Given the description of an element on the screen output the (x, y) to click on. 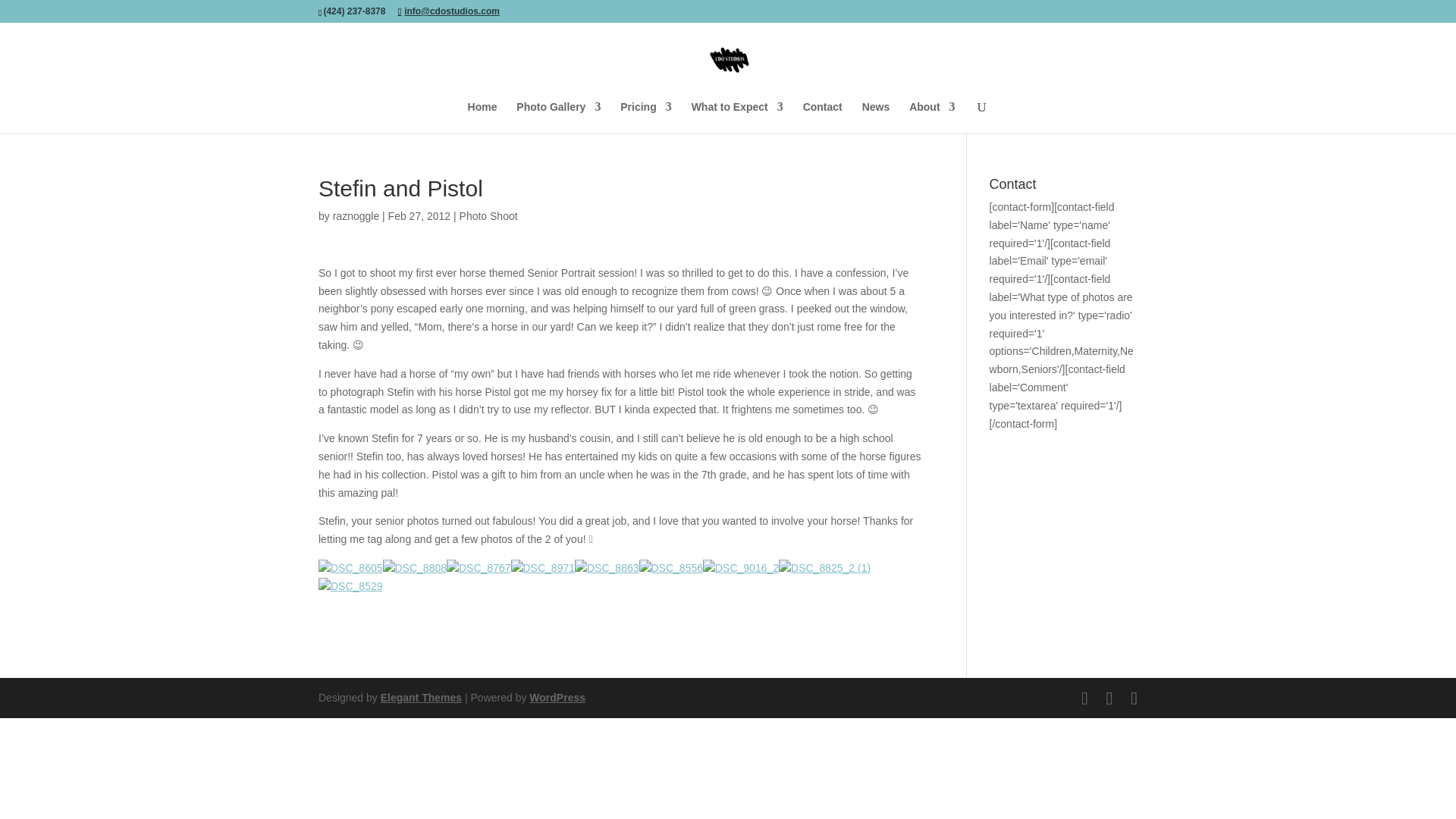
About (931, 117)
Photo Shoot (489, 215)
What to Expect (737, 117)
Elegant Themes (420, 697)
Posts by raznoggle (356, 215)
Photo Gallery (557, 117)
Premium WordPress Themes (420, 697)
raznoggle (356, 215)
Contact (823, 117)
Pricing (645, 117)
WordPress (557, 697)
News (875, 117)
Home (482, 117)
